Given the description of an element on the screen output the (x, y) to click on. 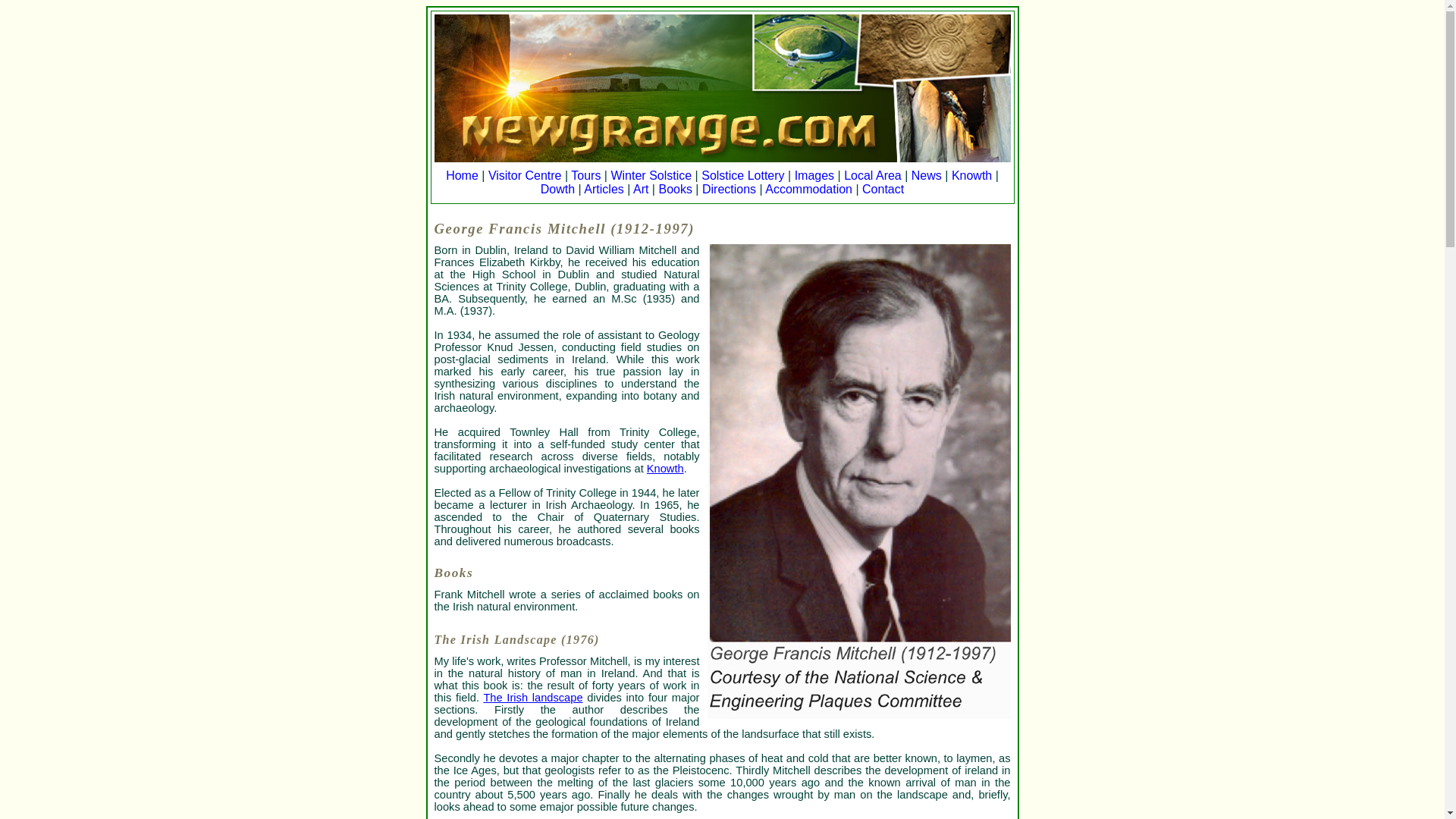
Contact (882, 188)
Directions (728, 188)
Articles (603, 188)
Solstice Lottery (742, 174)
News (926, 174)
Winter Solstice (650, 174)
Visitor Centre (524, 174)
Books (674, 188)
Accommodation (808, 188)
Knowth (665, 468)
Local Area (872, 174)
Images (814, 174)
Home (462, 174)
The Irish landscape (532, 697)
Art (640, 188)
